Given the description of an element on the screen output the (x, y) to click on. 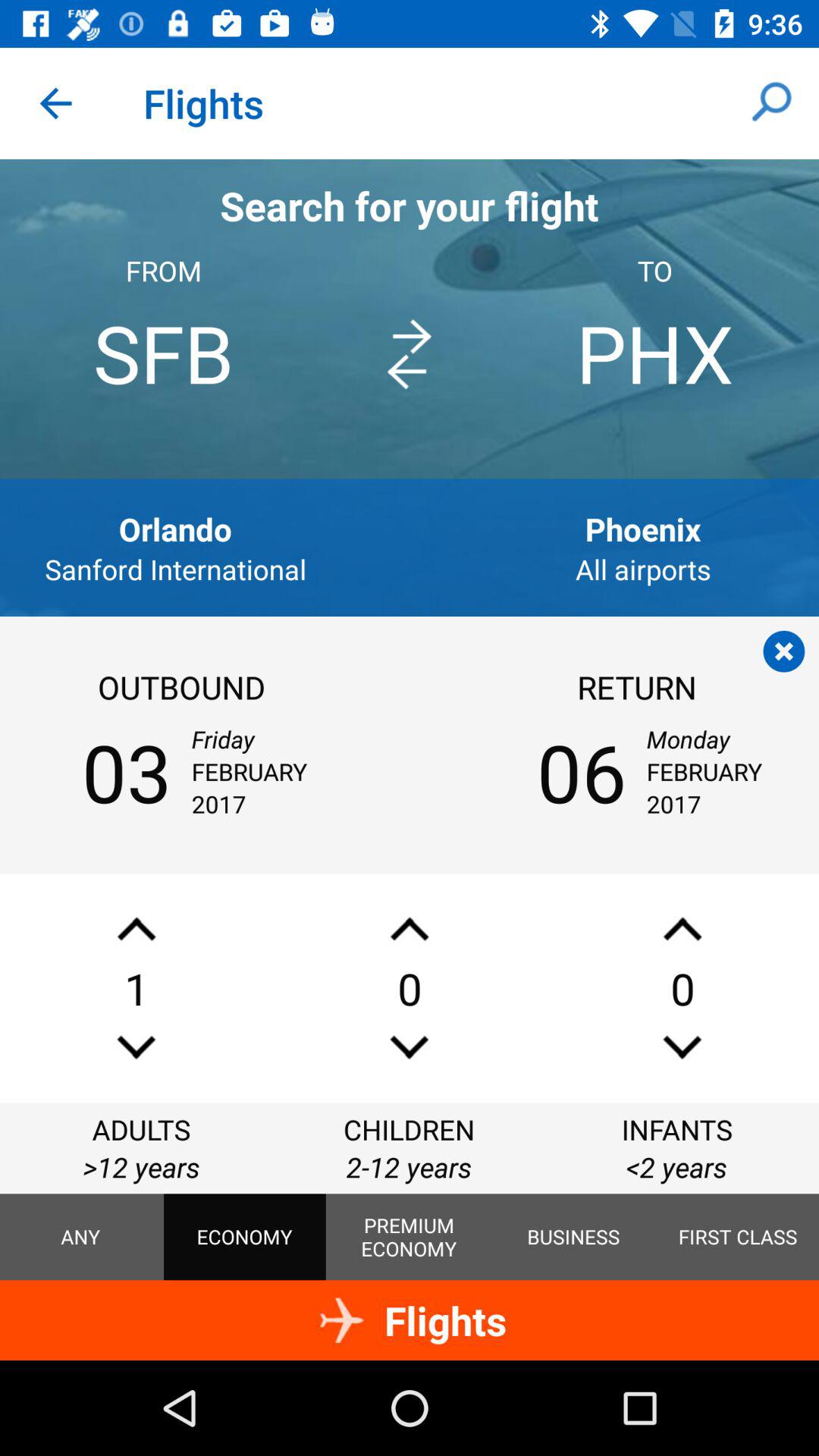
choose the icon to the left of flights app (55, 103)
